Given the description of an element on the screen output the (x, y) to click on. 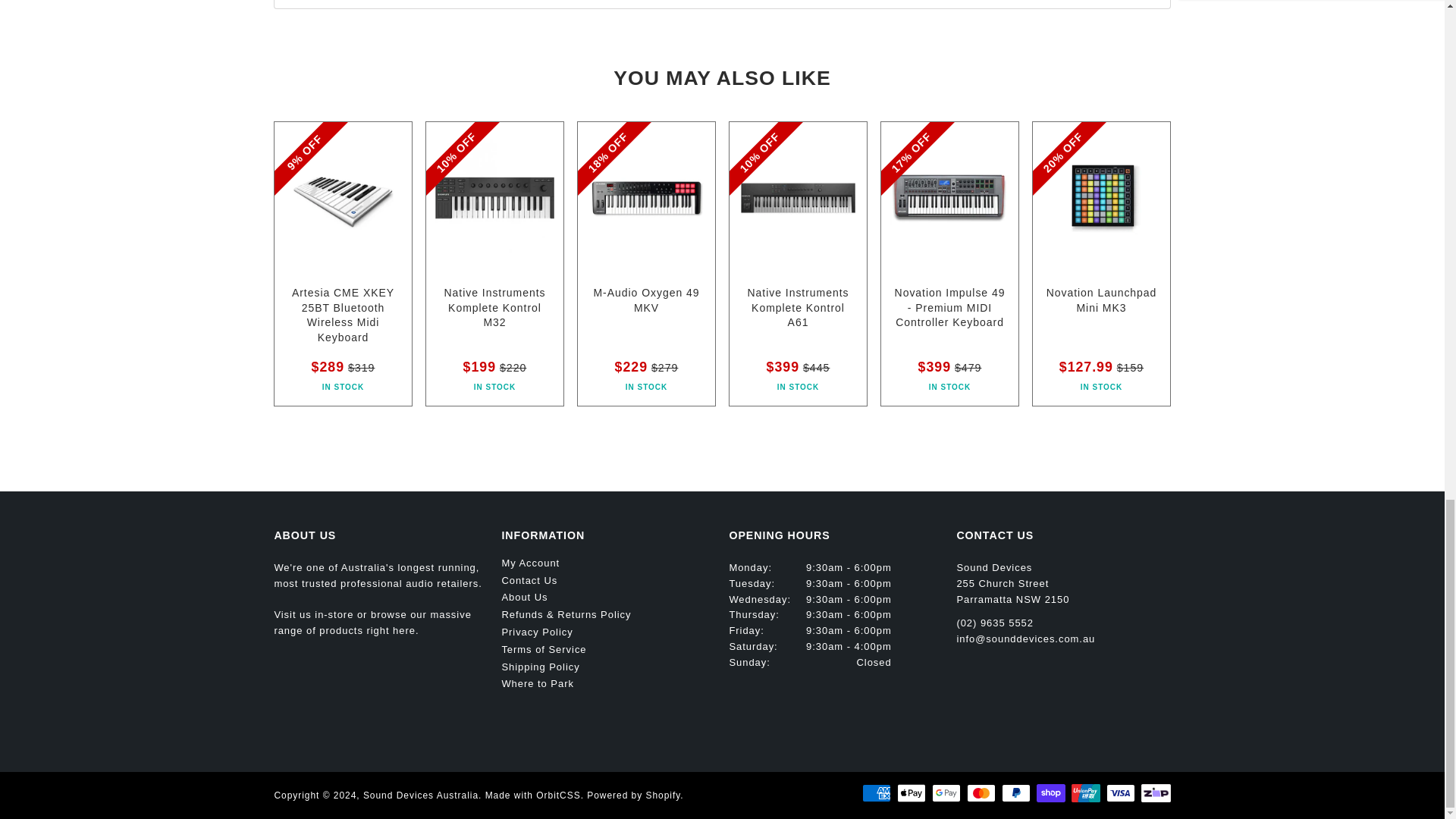
Shop Pay (1050, 792)
Visa (1120, 792)
Mastercard (980, 792)
Google Pay (945, 792)
American Express (876, 792)
Union Pay (1085, 792)
Apple Pay (911, 792)
PayPal (1015, 792)
